Given the description of an element on the screen output the (x, y) to click on. 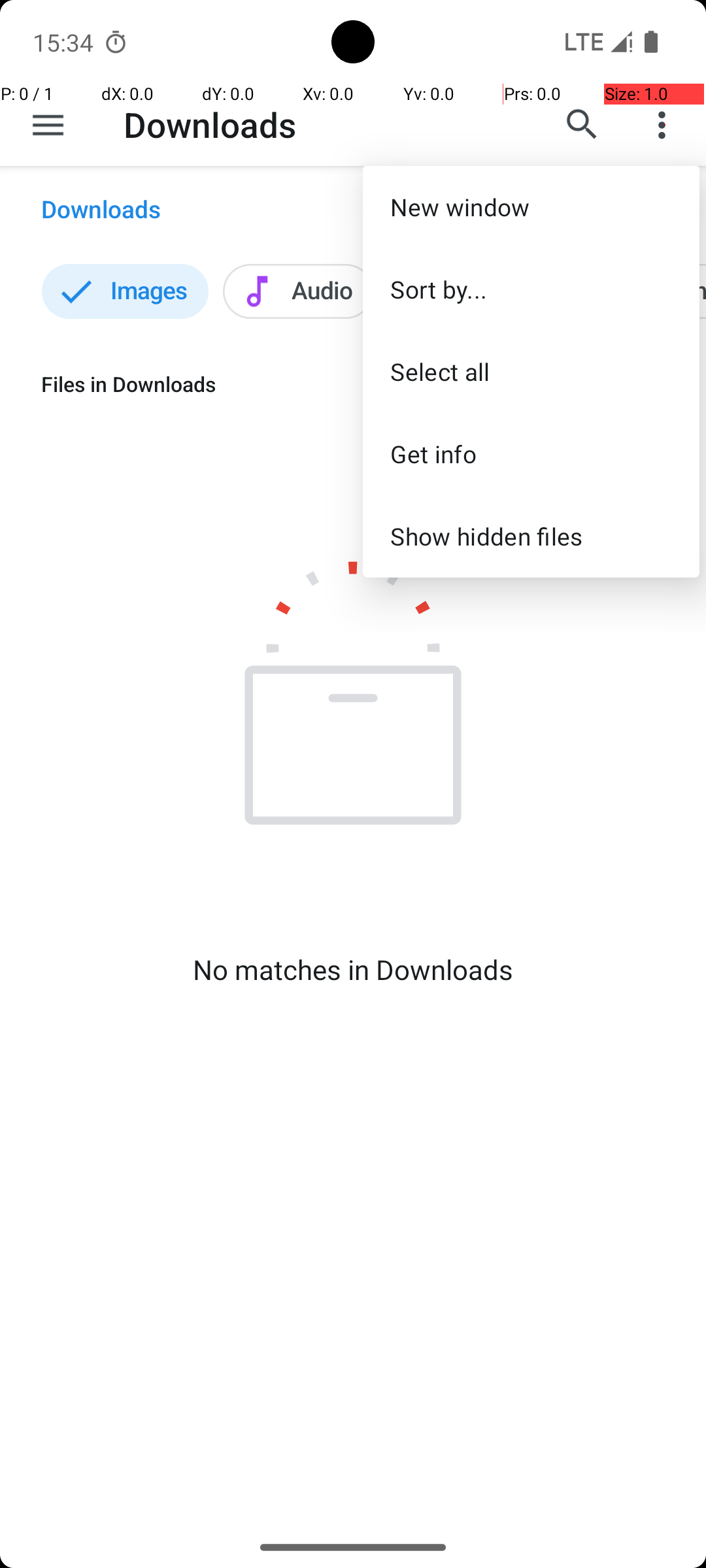
New window Element type: android.widget.TextView (531, 206)
Sort by... Element type: android.widget.TextView (531, 288)
Select all Element type: android.widget.TextView (531, 371)
Get info Element type: android.widget.TextView (531, 453)
Show hidden files Element type: android.widget.TextView (531, 535)
